Given the description of an element on the screen output the (x, y) to click on. 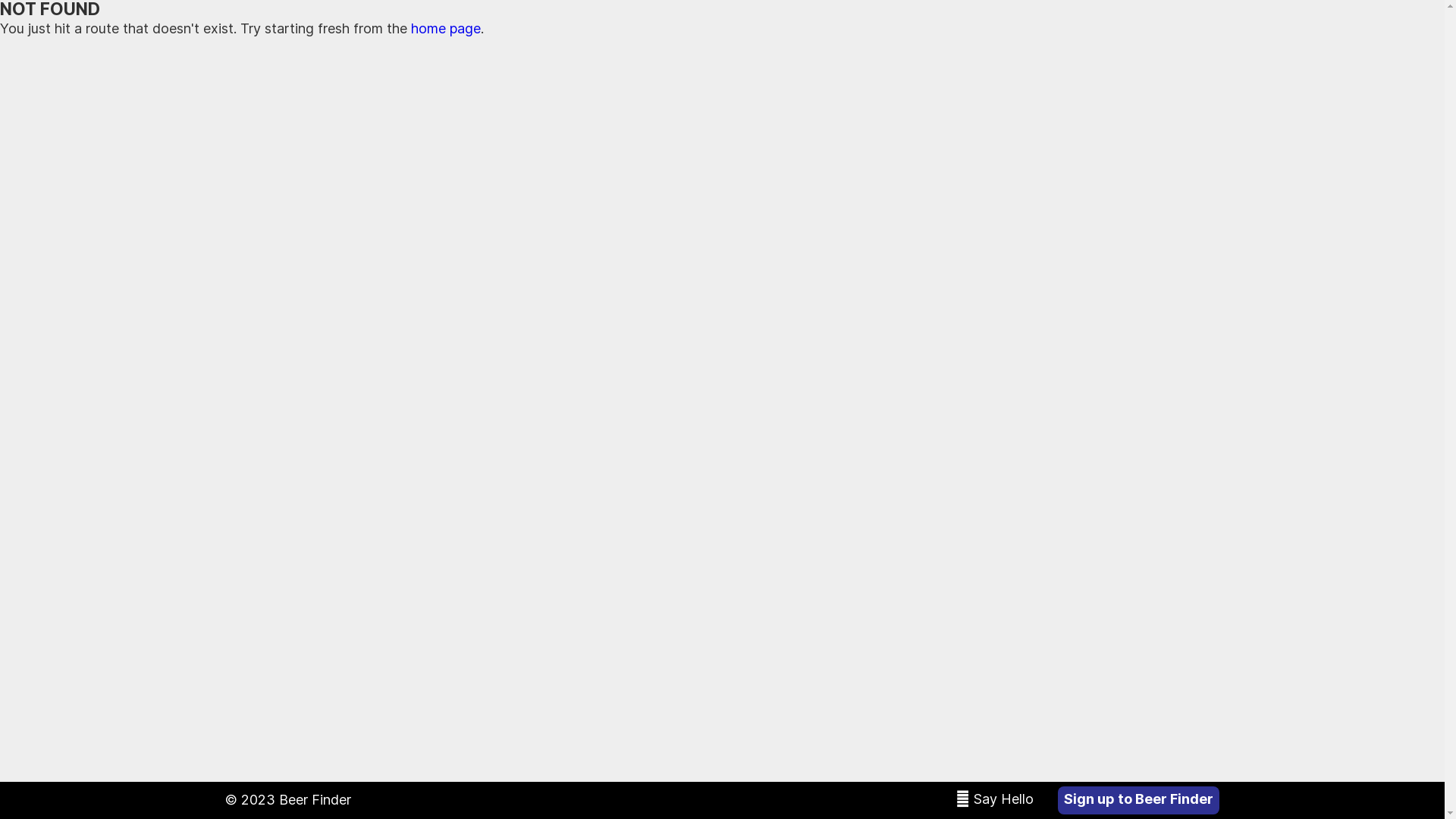
home page Element type: text (445, 28)
Sign up to Beer Finder Element type: text (1138, 800)
